Given the description of an element on the screen output the (x, y) to click on. 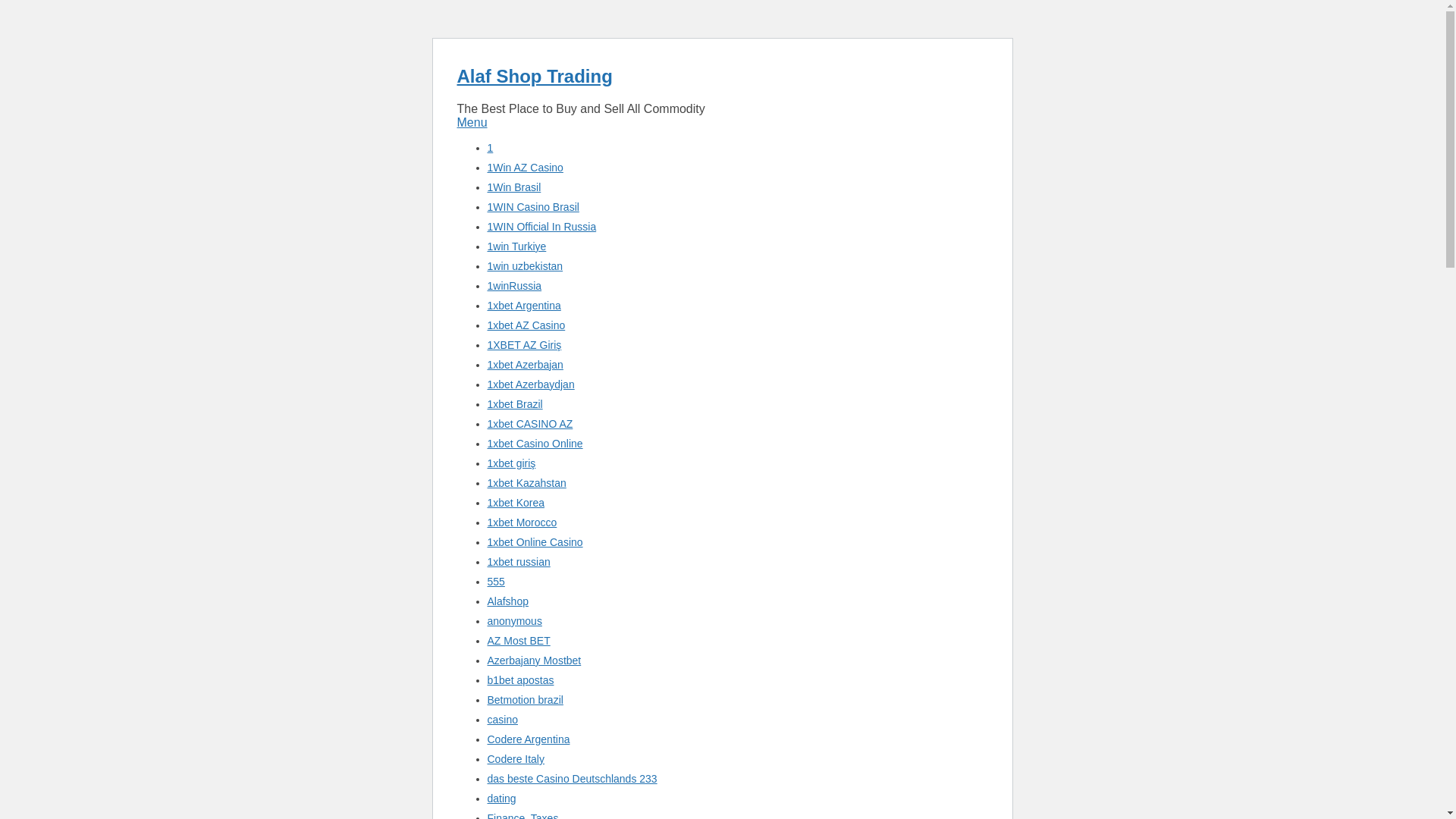
1win Turkiye (516, 246)
1xbet Brazil (513, 404)
AZ Most BET (518, 640)
1xbet Azerbajan (524, 364)
1Win Brasil (513, 186)
Finance, Taxes (521, 815)
anonymous (513, 621)
1xbet Korea (515, 502)
1winRussia (513, 285)
555 (494, 581)
1xbet russian (518, 562)
Menu (471, 122)
1xbet Azerbaydjan (529, 384)
1win uzbekistan (524, 265)
Betmotion brazil (524, 699)
